Given the description of an element on the screen output the (x, y) to click on. 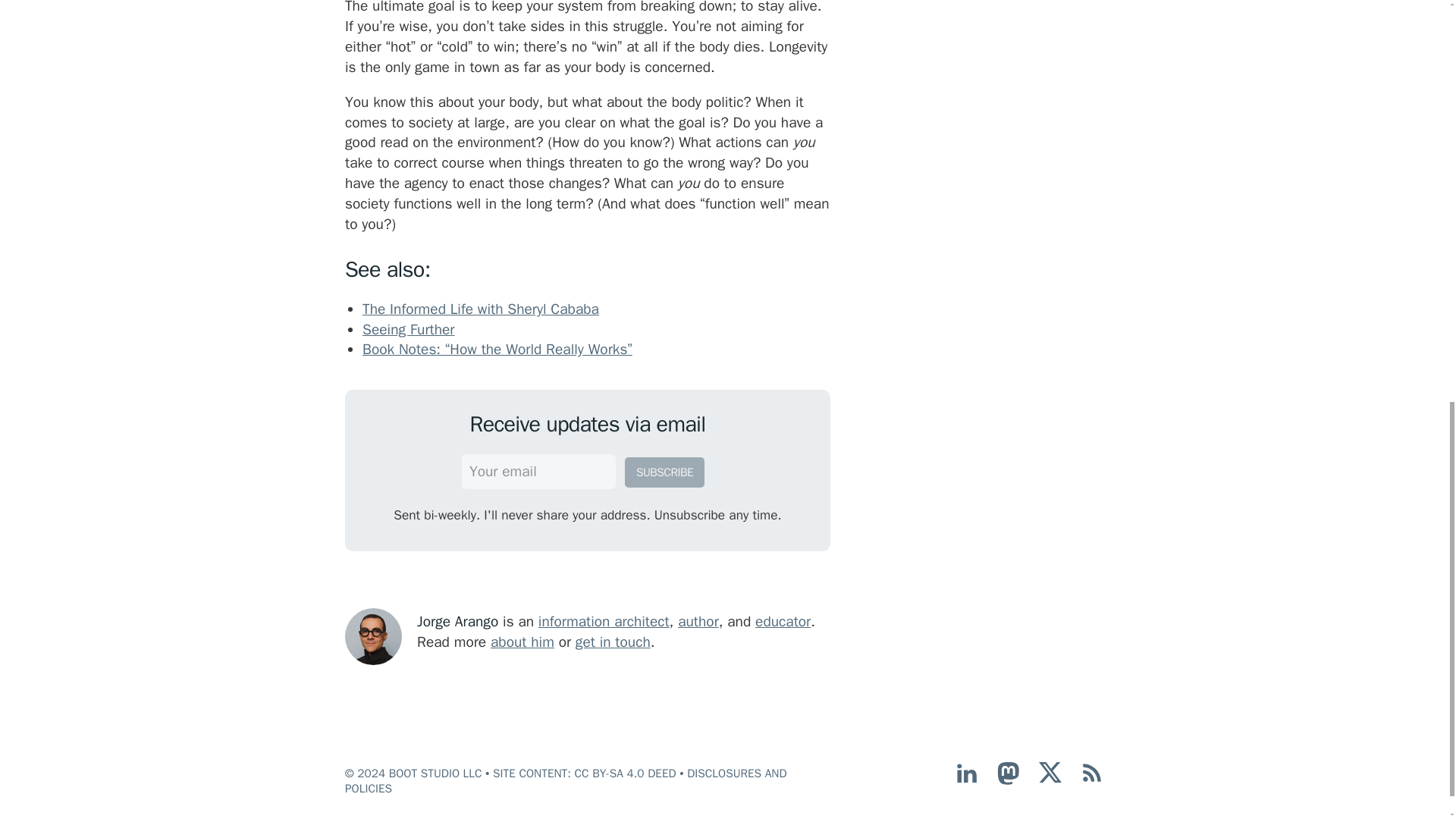
Subscribe (664, 472)
Jorge Arango on LinkedIn (966, 780)
Seeing Further (408, 330)
The Informed Life with Sheryl Cababa (480, 309)
get in touch (612, 642)
Subscribe (664, 472)
about him (522, 642)
information architect (603, 621)
educator (782, 621)
author (698, 621)
DISCLOSURES AND POLICIES (566, 780)
Your email (538, 471)
SITE CONTENT: CC BY-SA 4.0 DEED (585, 773)
Site RSS feed (1091, 780)
